Given the description of an element on the screen output the (x, y) to click on. 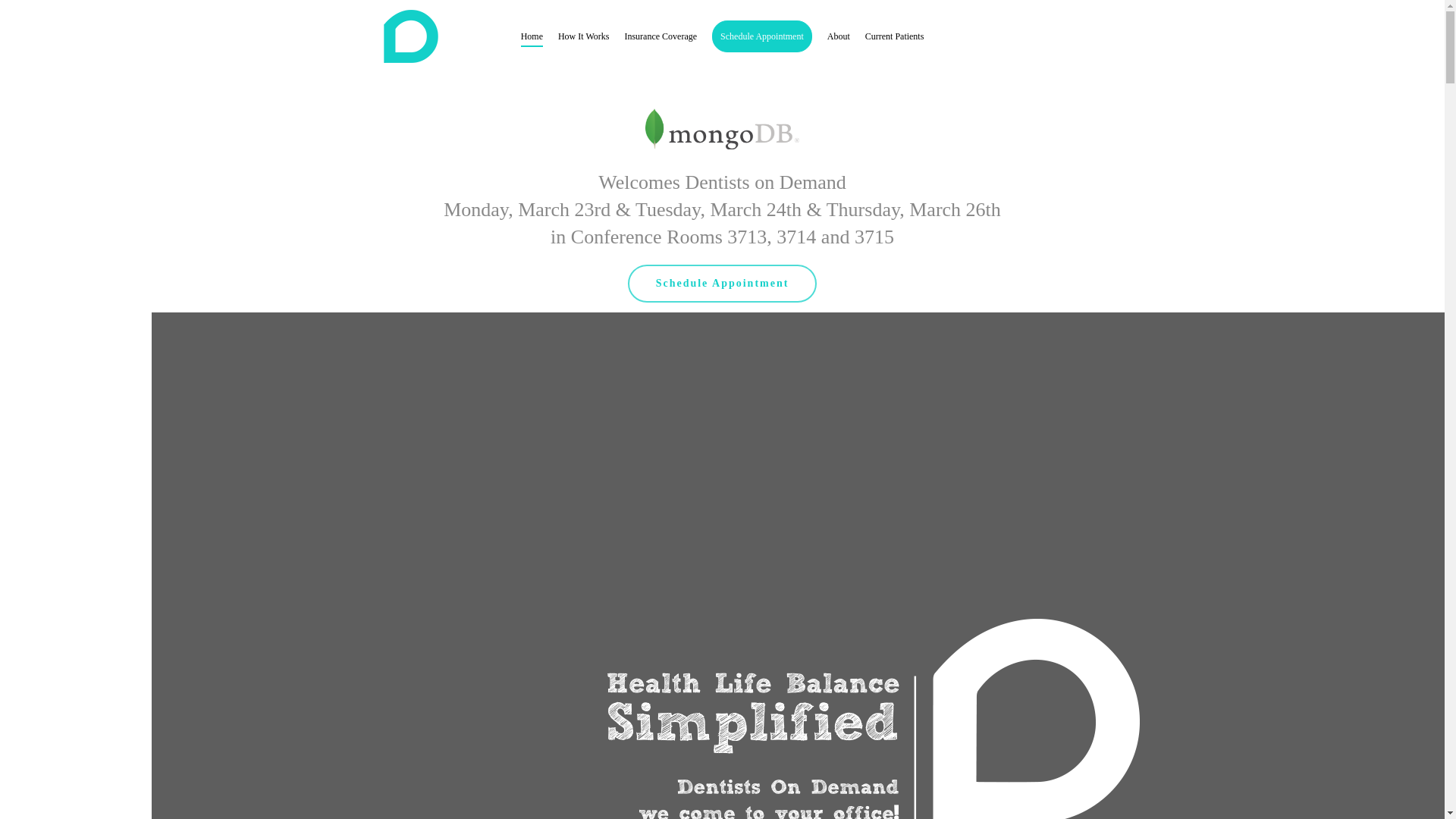
Schedule Appointment (761, 36)
How It Works (582, 36)
About (838, 36)
Insurance Coverage (660, 36)
Home (532, 36)
Schedule Appointment (721, 283)
Current Patients (894, 36)
